Given the description of an element on the screen output the (x, y) to click on. 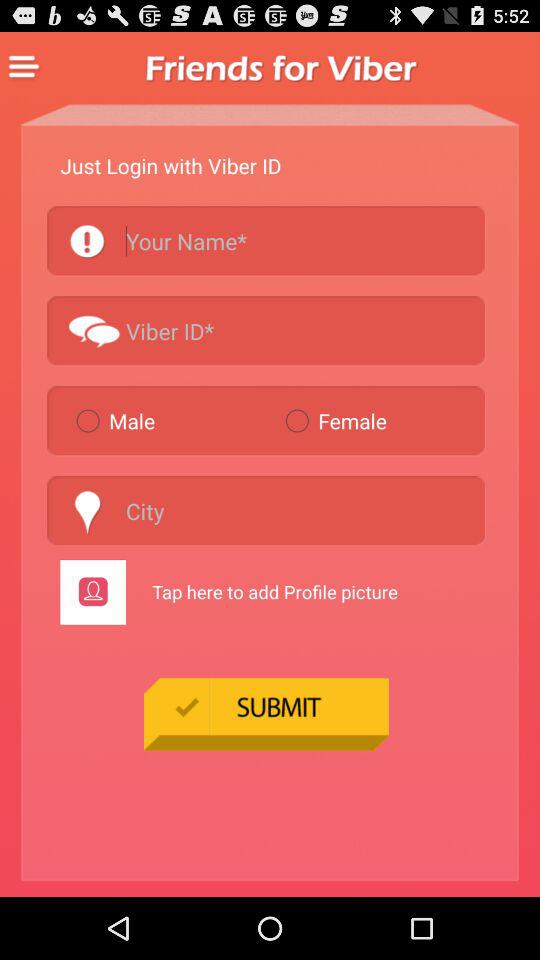
search by name (266, 240)
